Given the description of an element on the screen output the (x, y) to click on. 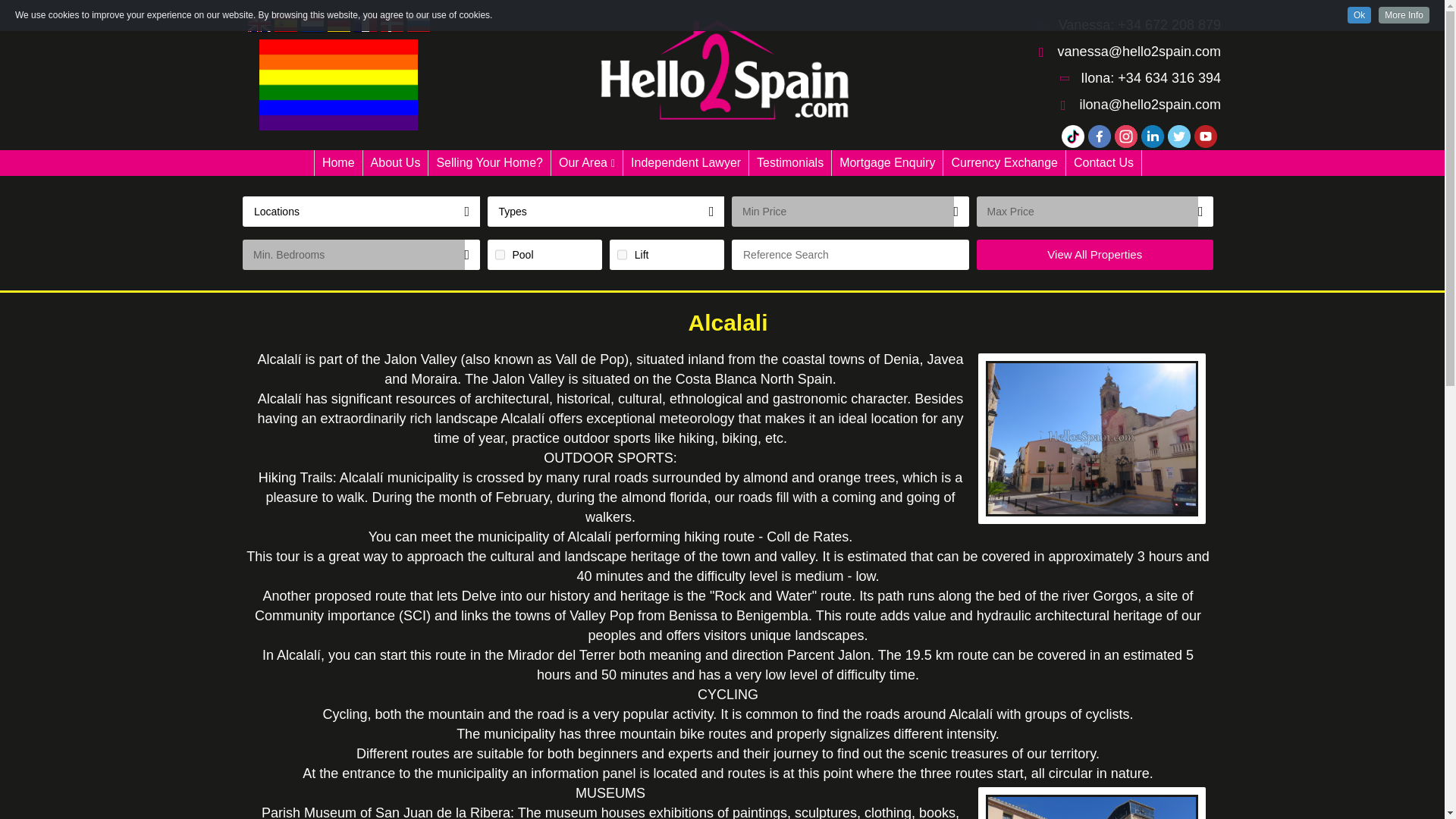
Spanish (285, 23)
English (258, 23)
More Info (1403, 14)
French (365, 23)
Ok (1359, 14)
Danish (390, 23)
Instagram (1126, 136)
TikTok (1072, 136)
Selling Your Home? (489, 162)
YouTube (1205, 136)
FaceBook (1098, 136)
Dutch (311, 23)
German (338, 23)
Home (338, 162)
Alcalali (727, 73)
